Given the description of an element on the screen output the (x, y) to click on. 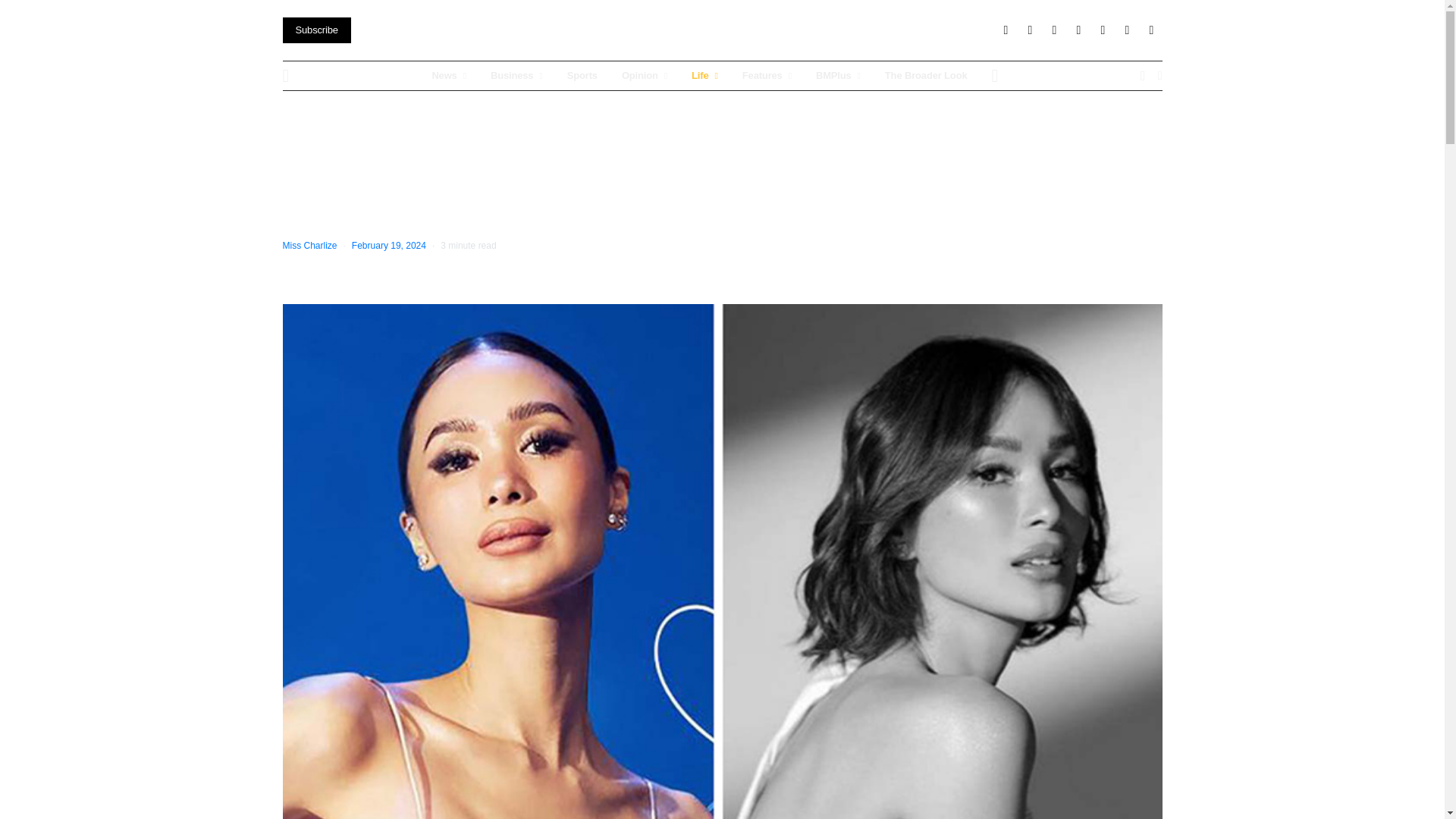
View all posts by Miss Charlize (309, 245)
